Given the description of an element on the screen output the (x, y) to click on. 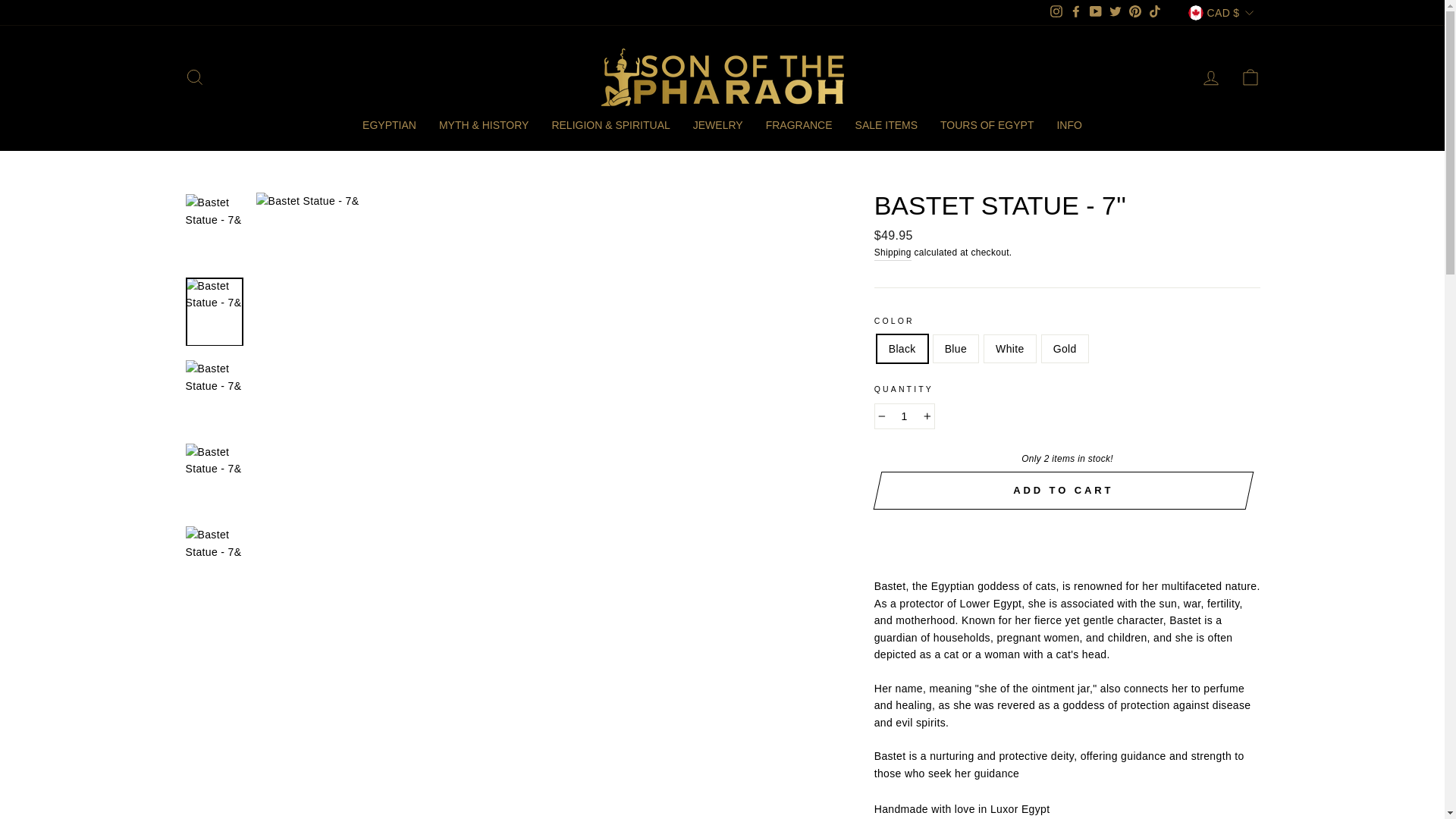
1 (904, 416)
Son Of The Pharaoh on Facebook (1075, 12)
YouTube (1095, 12)
Instagram (1055, 12)
Son Of The Pharaoh on Twitter (1115, 12)
Son Of The Pharaoh on Instagram (1055, 12)
Pinterest (1134, 12)
